Given the description of an element on the screen output the (x, y) to click on. 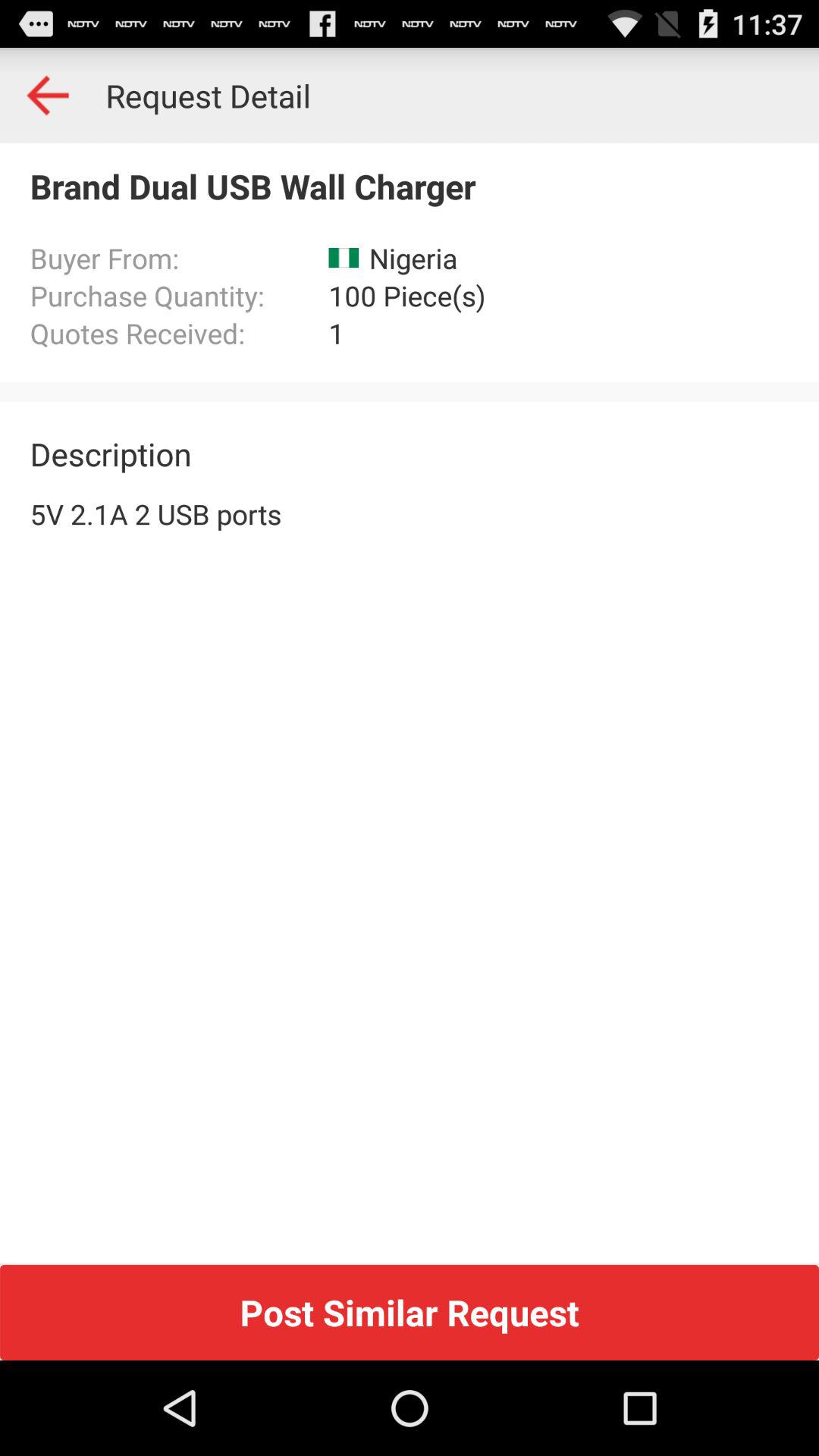
click on post similar request (47, 95)
